Given the description of an element on the screen output the (x, y) to click on. 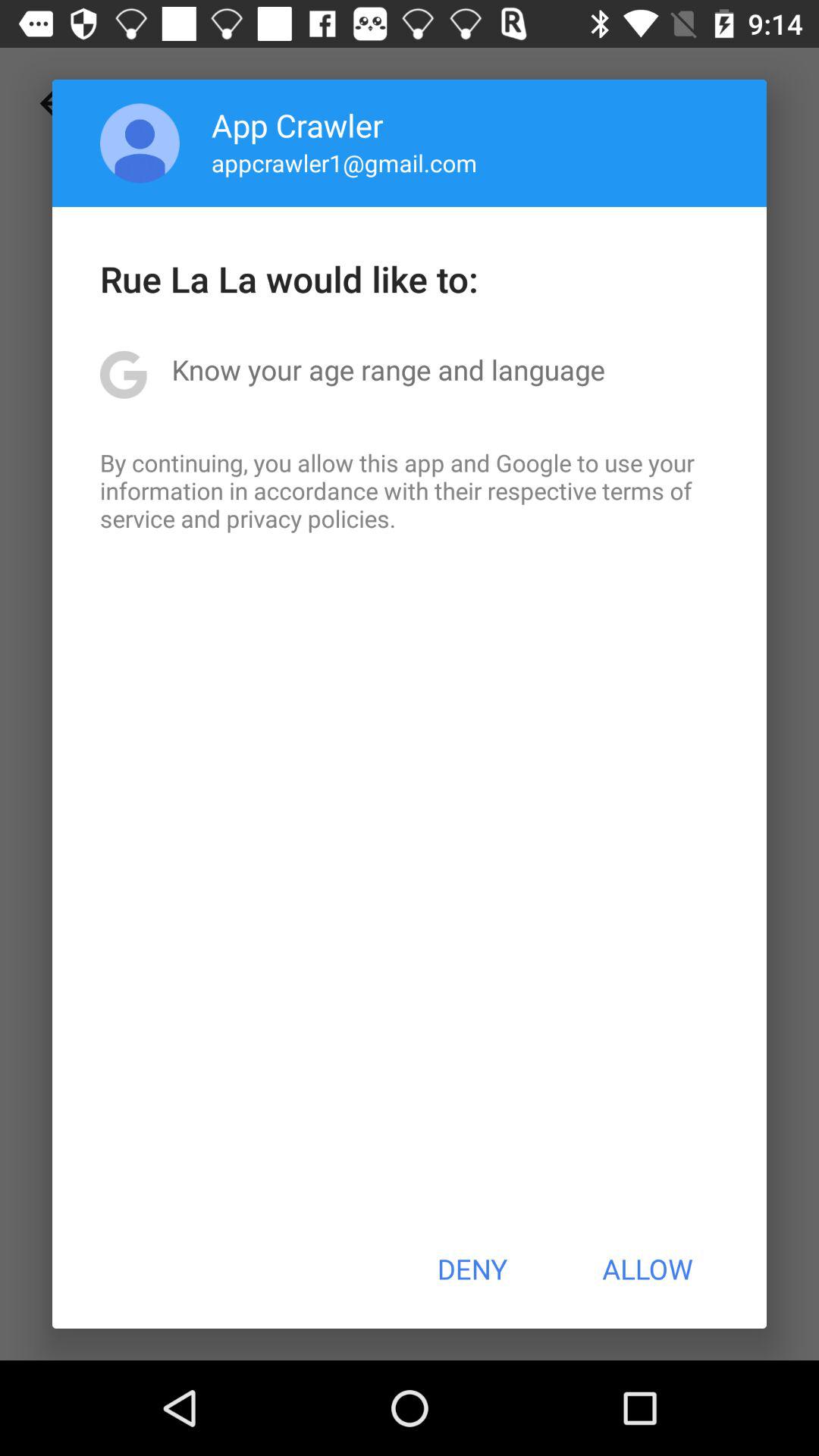
tap the app below the rue la la app (388, 369)
